Given the description of an element on the screen output the (x, y) to click on. 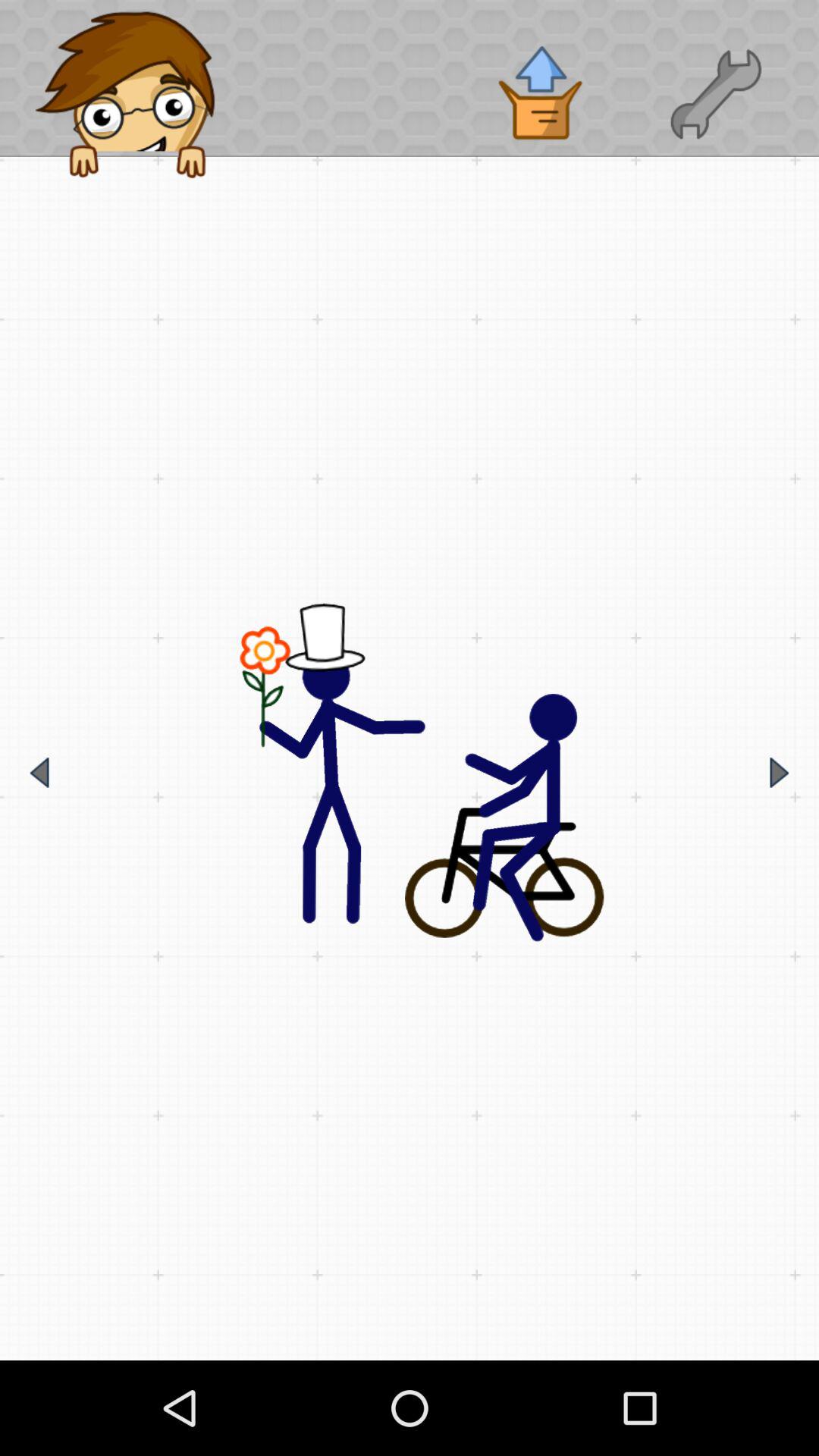
view image (409, 772)
